Given the description of an element on the screen output the (x, y) to click on. 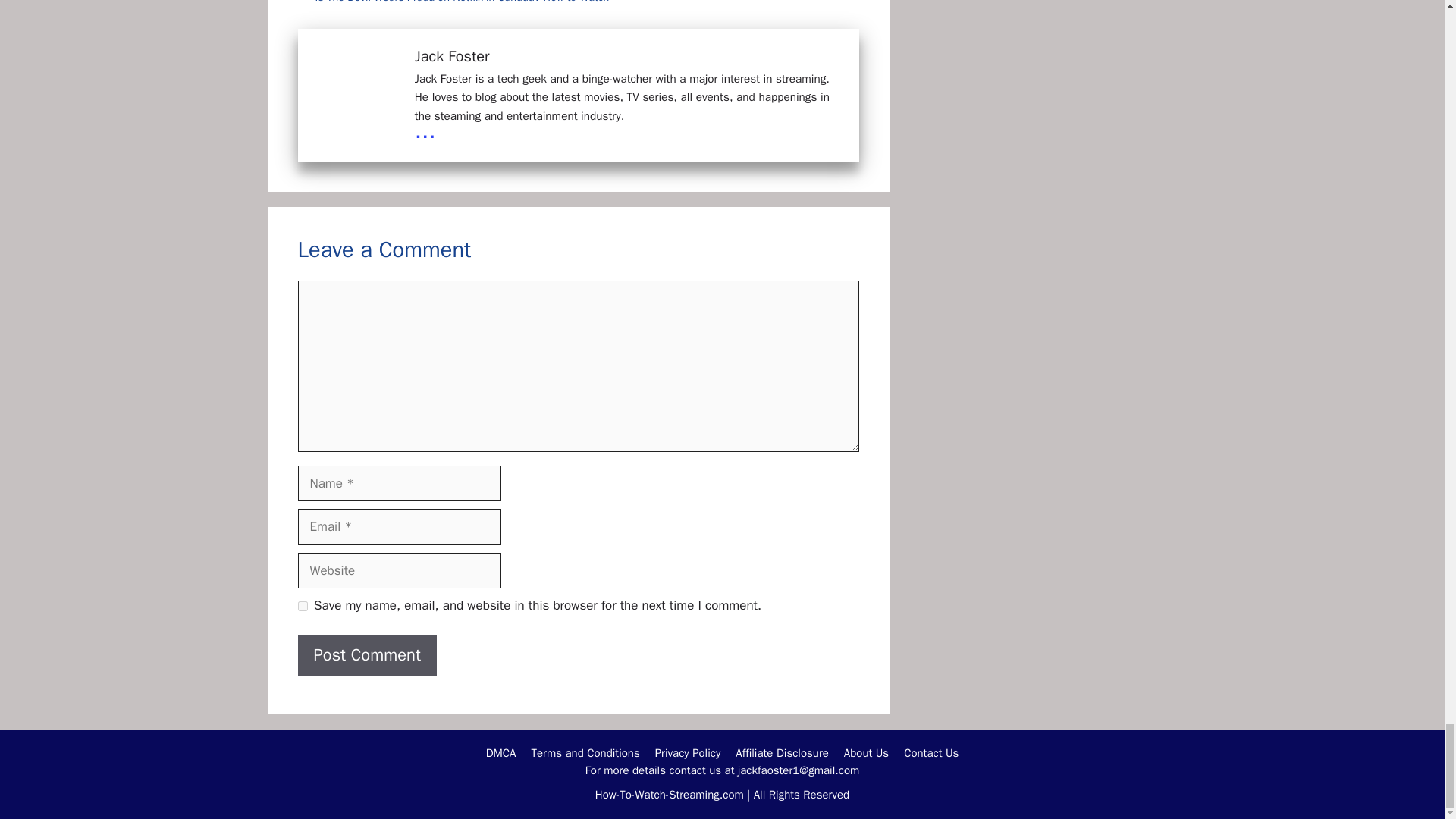
DMCA (501, 753)
yes (302, 605)
Terms and Conditions (585, 753)
Post Comment (366, 655)
Post Comment (366, 655)
Is The Devil Wears Prada on Netflix in Canada? How to Watch (462, 2)
